Given the description of an element on the screen output the (x, y) to click on. 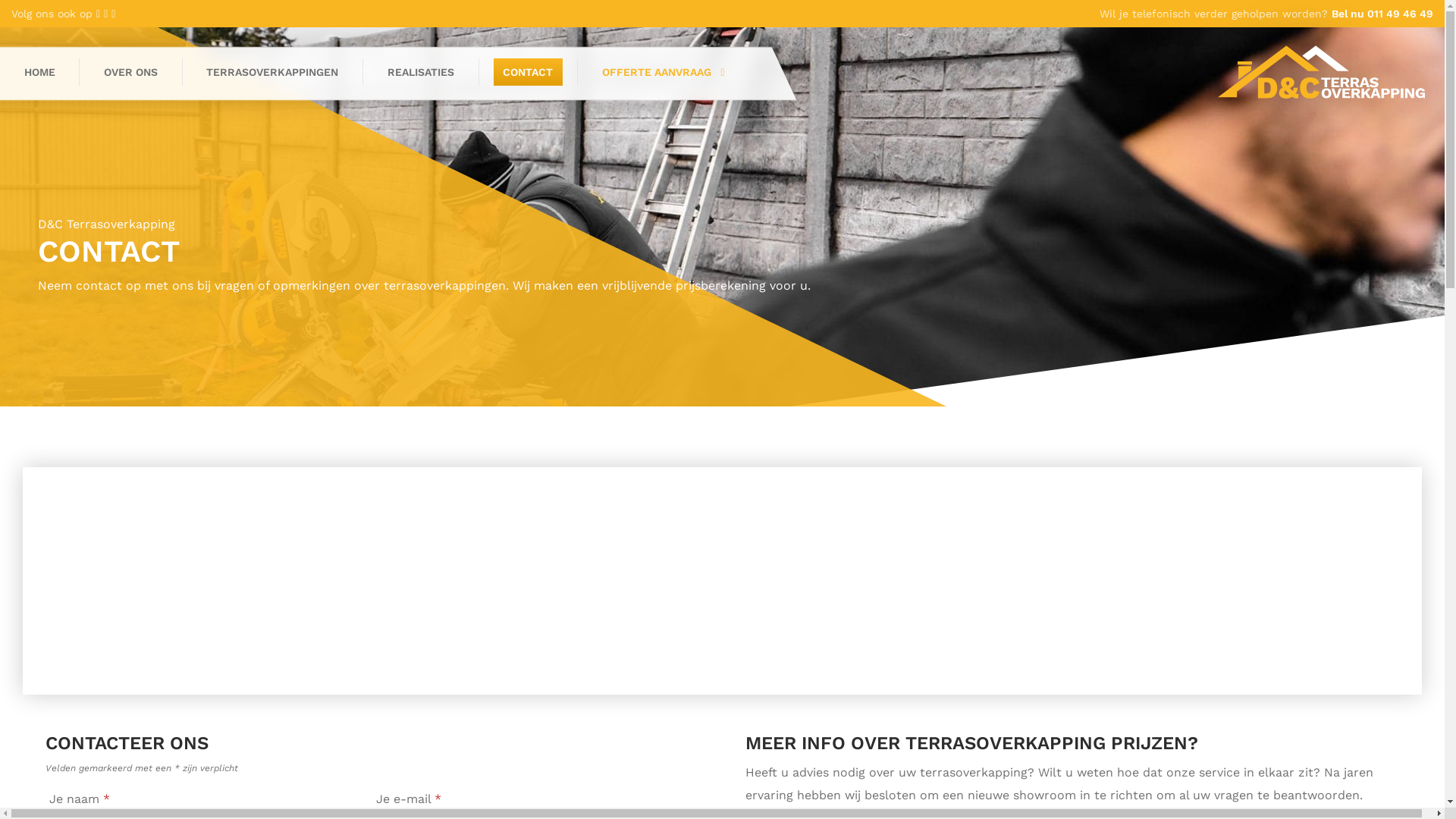
CONTACT Element type: text (527, 71)
OVER ONS Element type: text (130, 71)
OFFERTE AANVRAAG Element type: text (661, 71)
HOME Element type: text (39, 71)
TERRASOVERKAPPINGEN Element type: text (272, 71)
Bel nu 011 49 46 49 Element type: text (1382, 13)
REALISATIES Element type: text (420, 71)
